Given the description of an element on the screen output the (x, y) to click on. 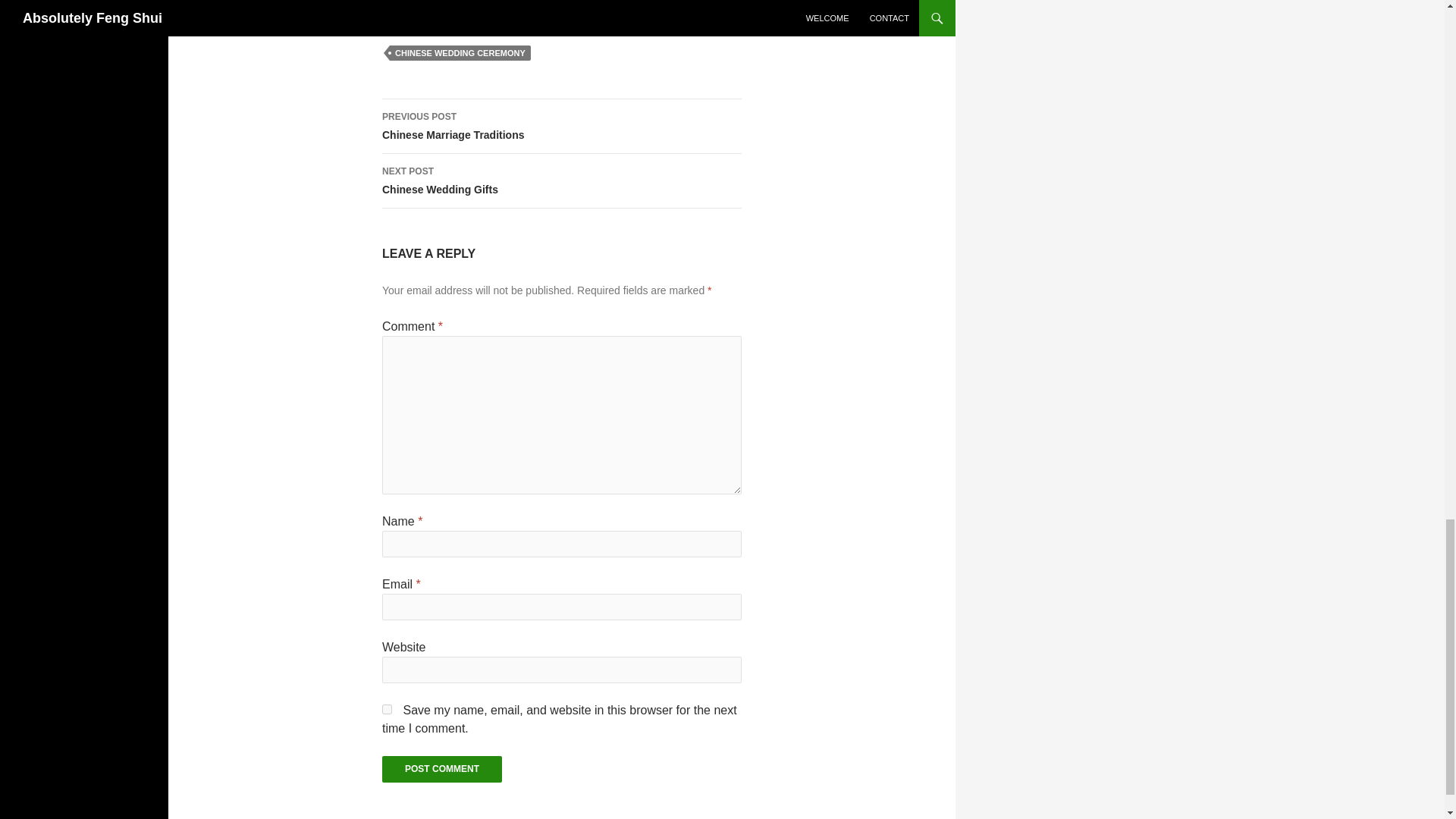
yes (386, 709)
Post Comment (441, 768)
Post Comment (441, 768)
CHINESE WEDDING CEREMONY (561, 180)
